Given the description of an element on the screen output the (x, y) to click on. 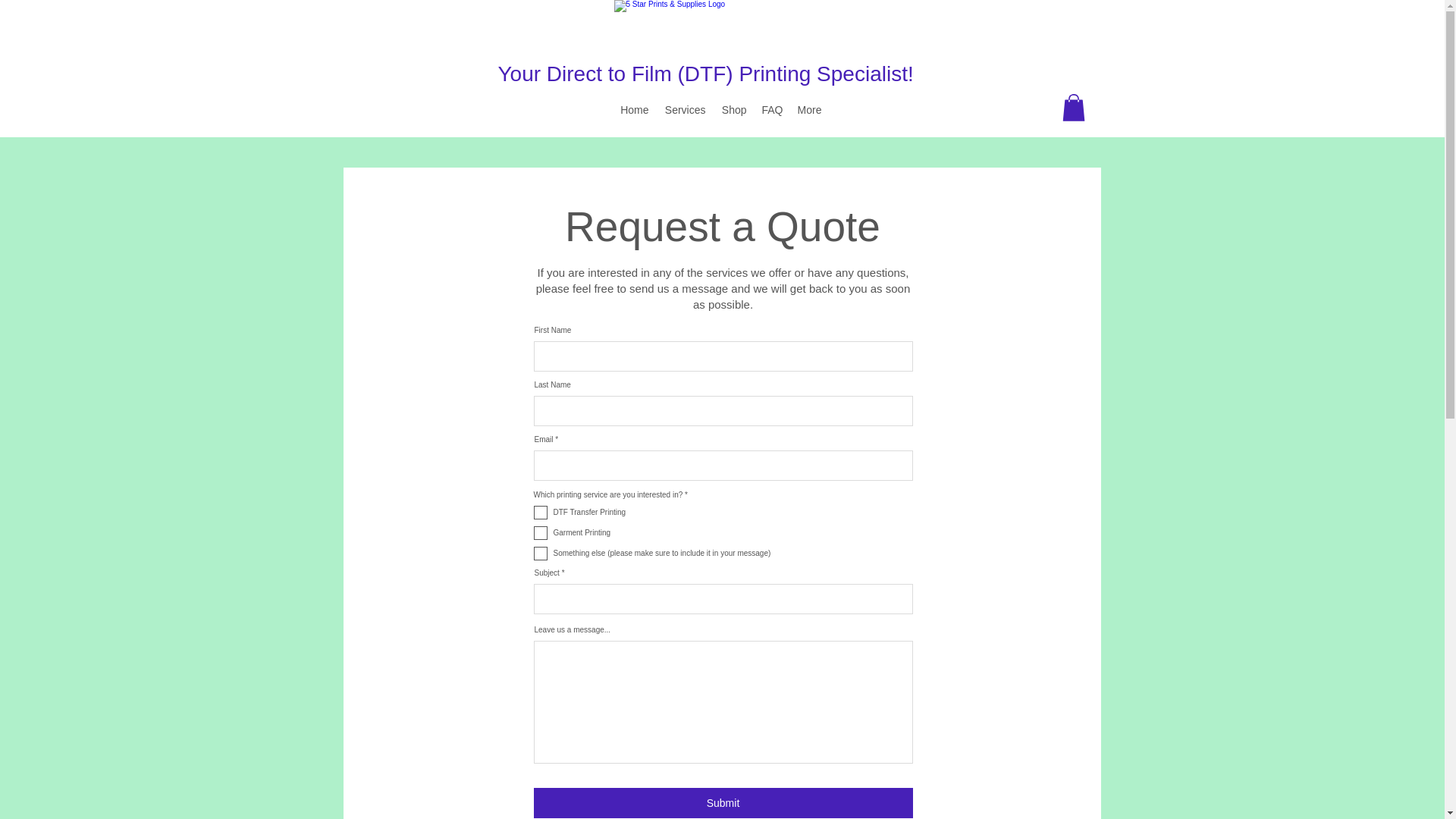
Home (633, 109)
DTF Printing in NZD (721, 33)
Shop (733, 109)
Services (684, 109)
FAQ (771, 109)
Submit (723, 802)
